Given the description of an element on the screen output the (x, y) to click on. 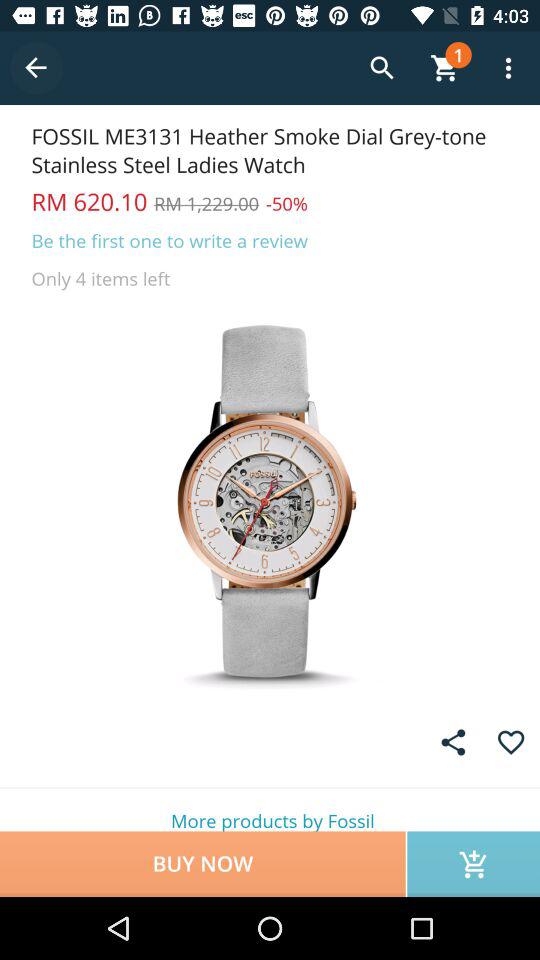
share link button (453, 742)
